Given the description of an element on the screen output the (x, y) to click on. 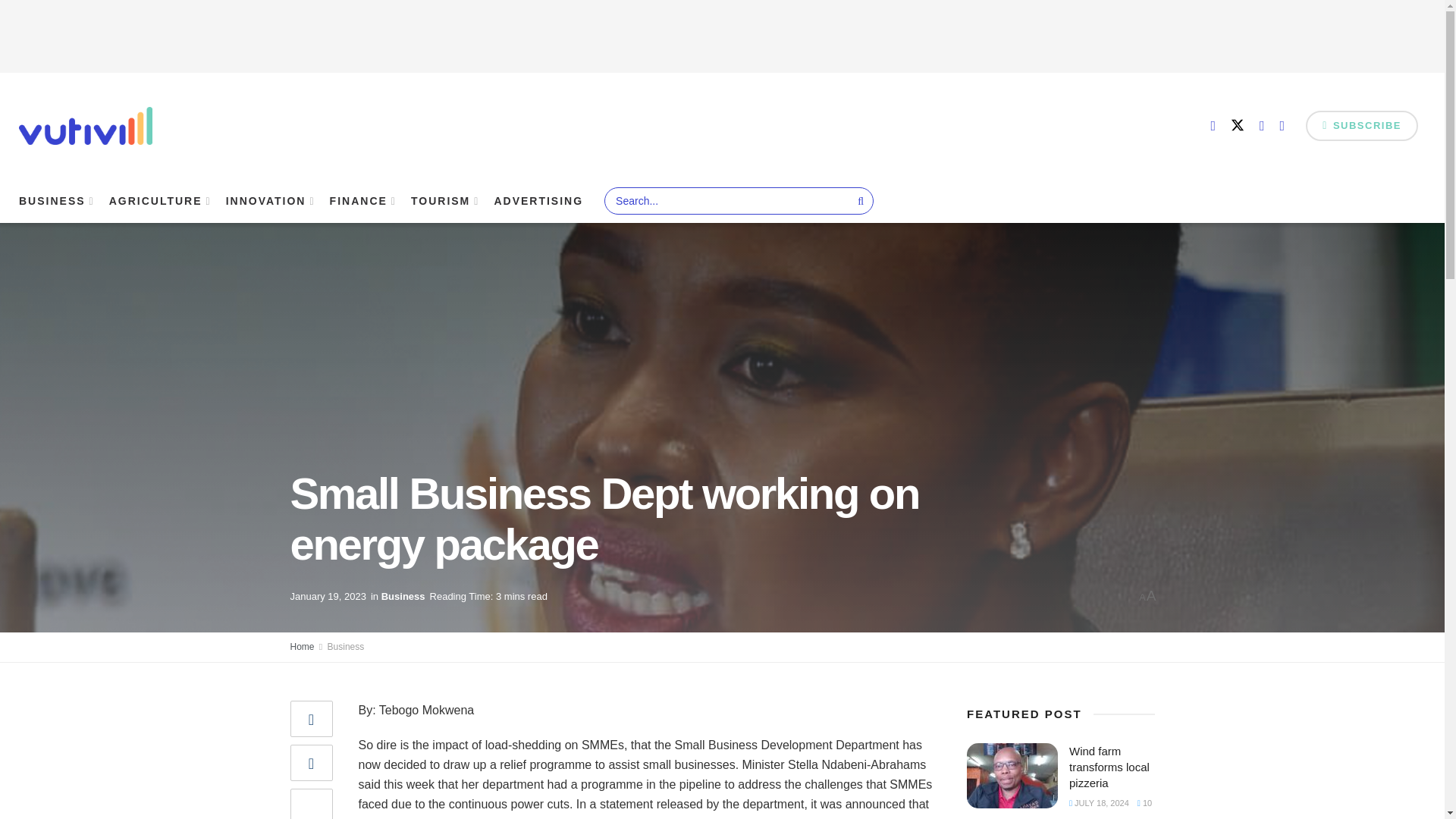
Advertisement (722, 33)
SUBSCRIBE (1362, 125)
AGRICULTURE (159, 200)
BUSINESS (55, 200)
